Given the description of an element on the screen output the (x, y) to click on. 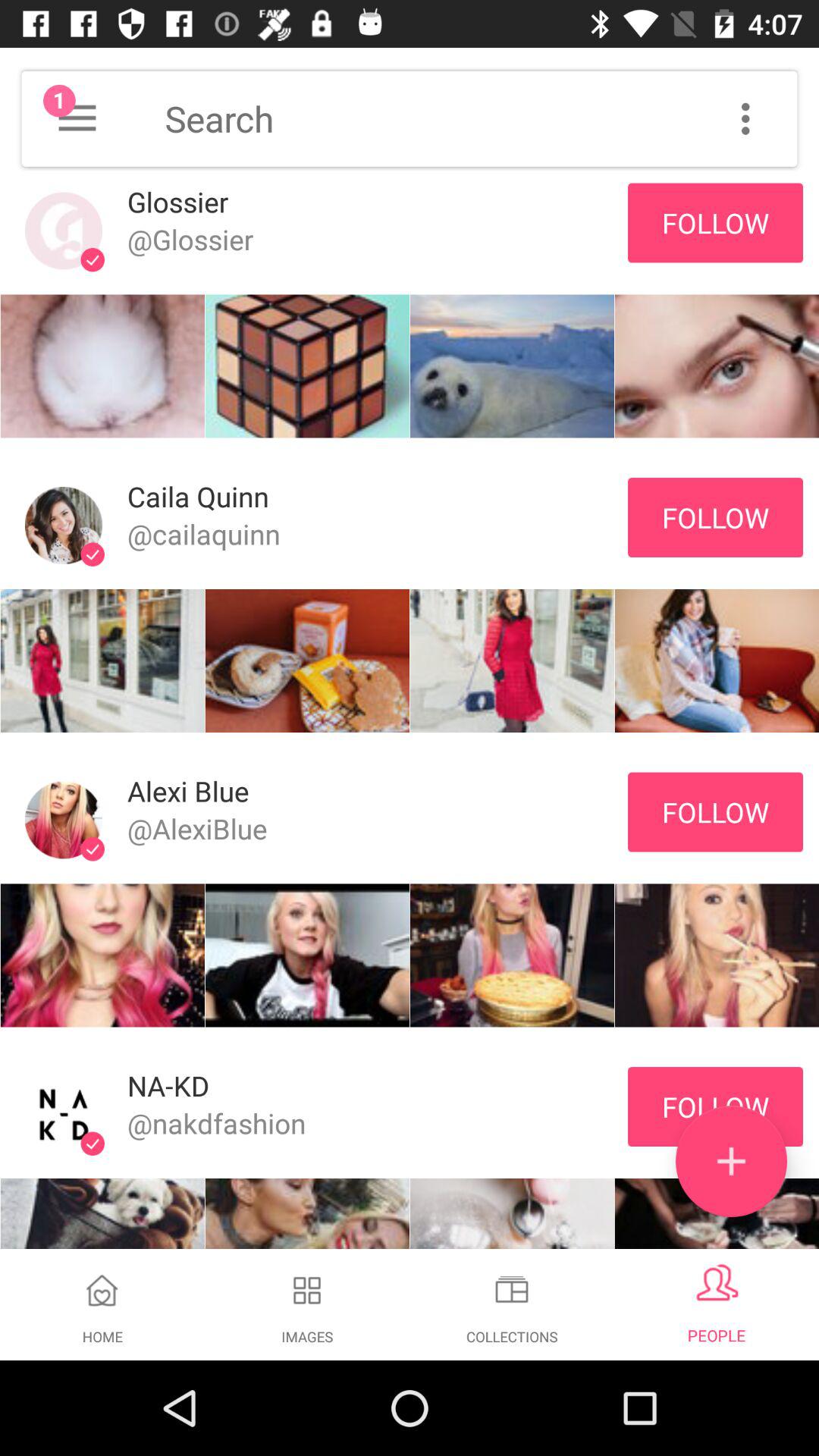
select the item above glossier item (77, 118)
